Given the description of an element on the screen output the (x, y) to click on. 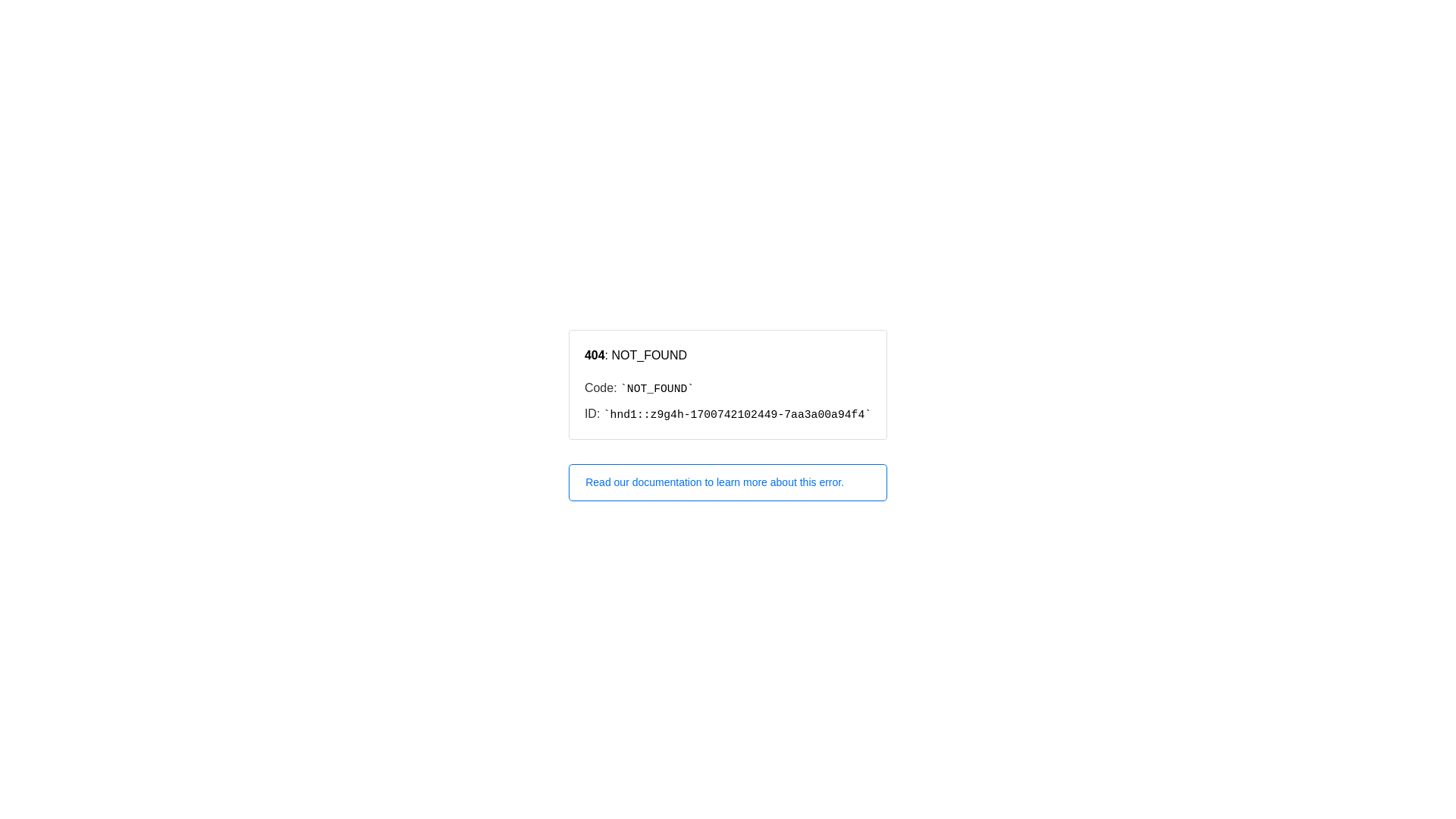
Read our documentation to learn more about this error. Element type: text (727, 482)
